Given the description of an element on the screen output the (x, y) to click on. 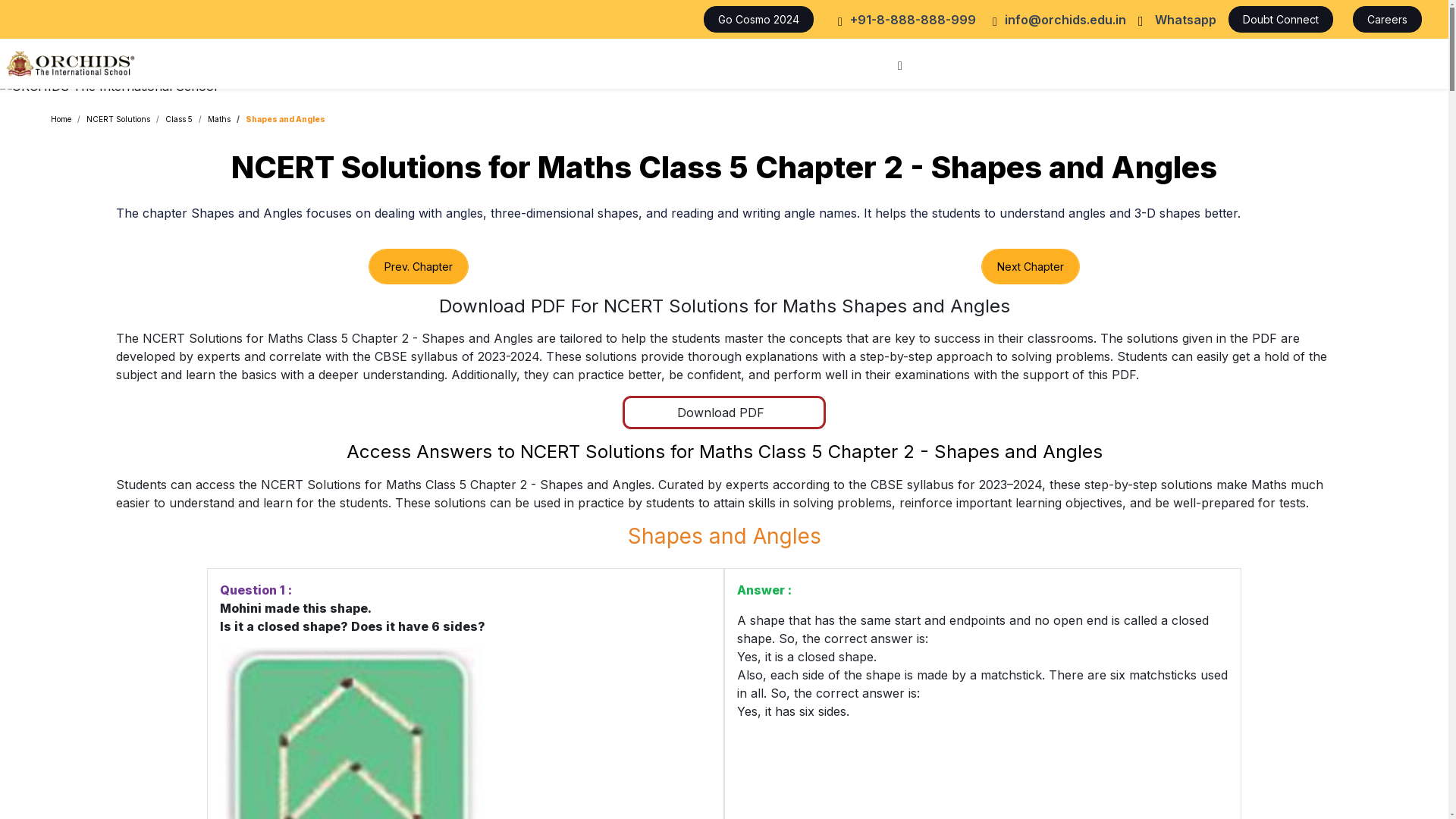
Careers (1390, 18)
Prev. Chapter (418, 266)
Class 5 (178, 118)
Go Cosmo 2024 (756, 18)
Home (60, 118)
Whatsapp (1176, 19)
Doubt Connect (1284, 18)
Class 5 (178, 118)
NCERT Solutions (117, 118)
Contact no. (903, 19)
